Given the description of an element on the screen output the (x, y) to click on. 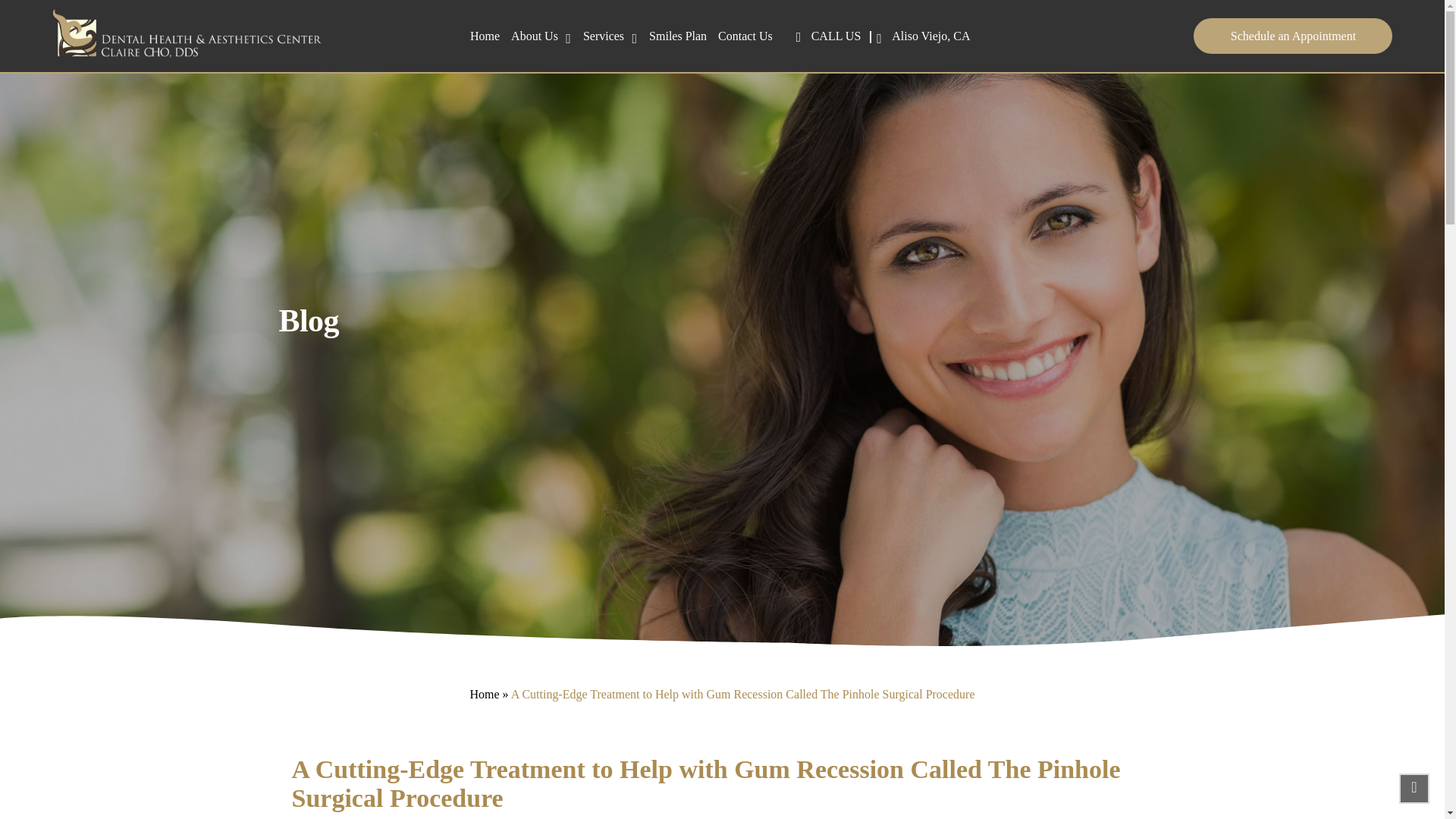
CALL US (828, 36)
Services (603, 35)
Contact Us (745, 35)
Home (484, 35)
Smiles Plan (677, 35)
About Us (534, 35)
